Given the description of an element on the screen output the (x, y) to click on. 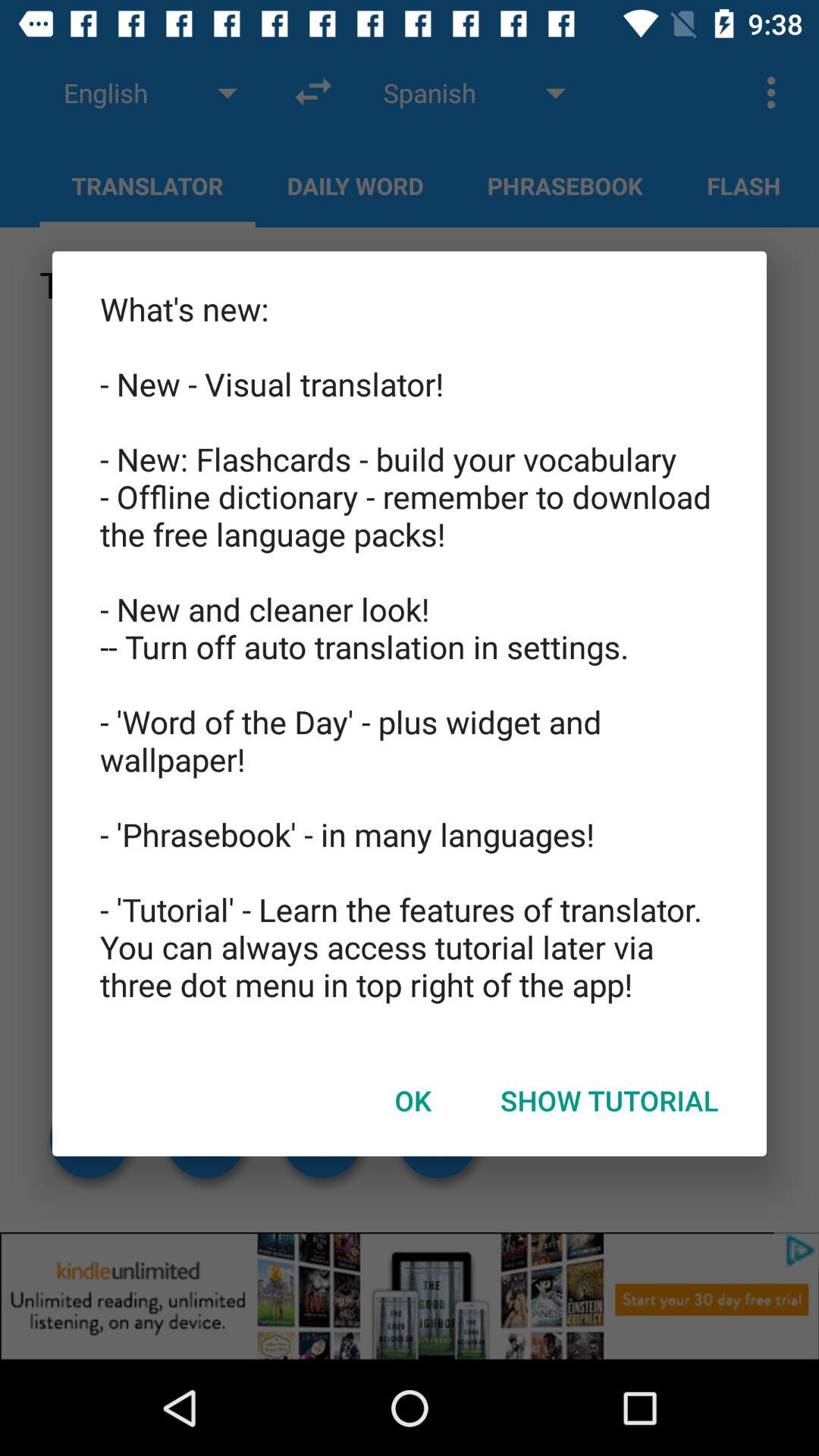
select icon next to the show tutorial (412, 1100)
